Given the description of an element on the screen output the (x, y) to click on. 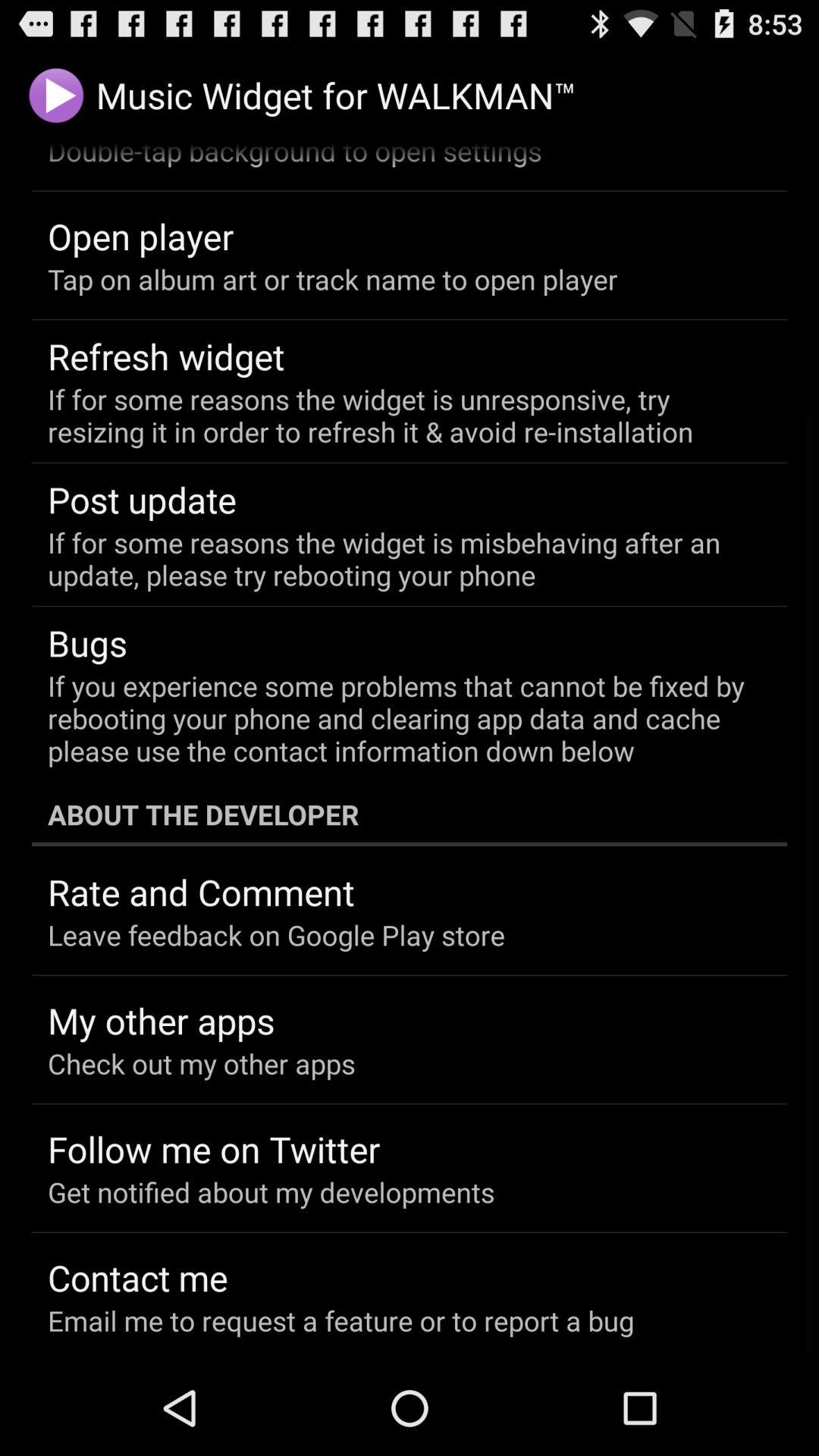
scroll until if you experience item (399, 718)
